Given the description of an element on the screen output the (x, y) to click on. 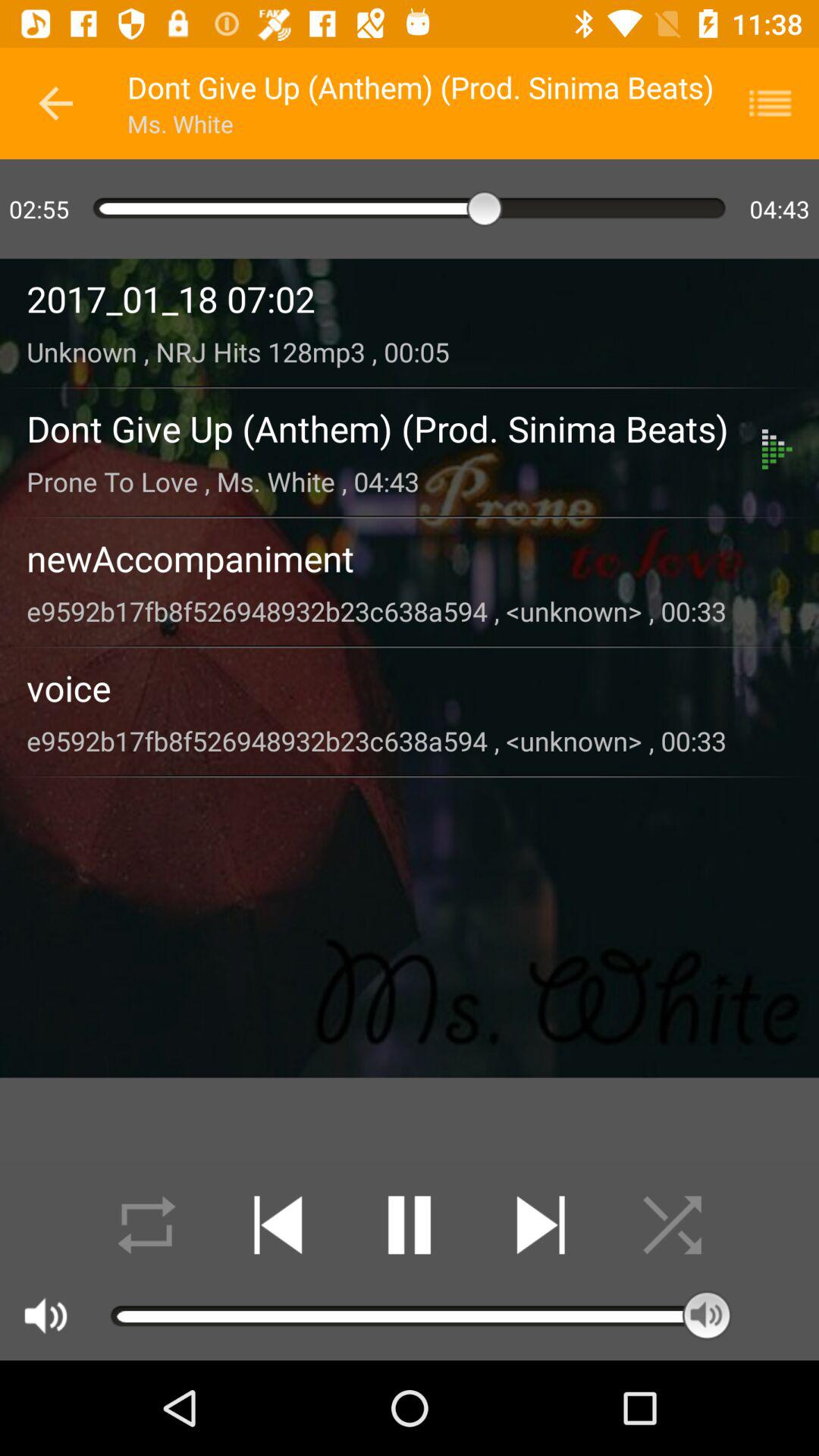
press the item next to the dont give up (55, 103)
